Given the description of an element on the screen output the (x, y) to click on. 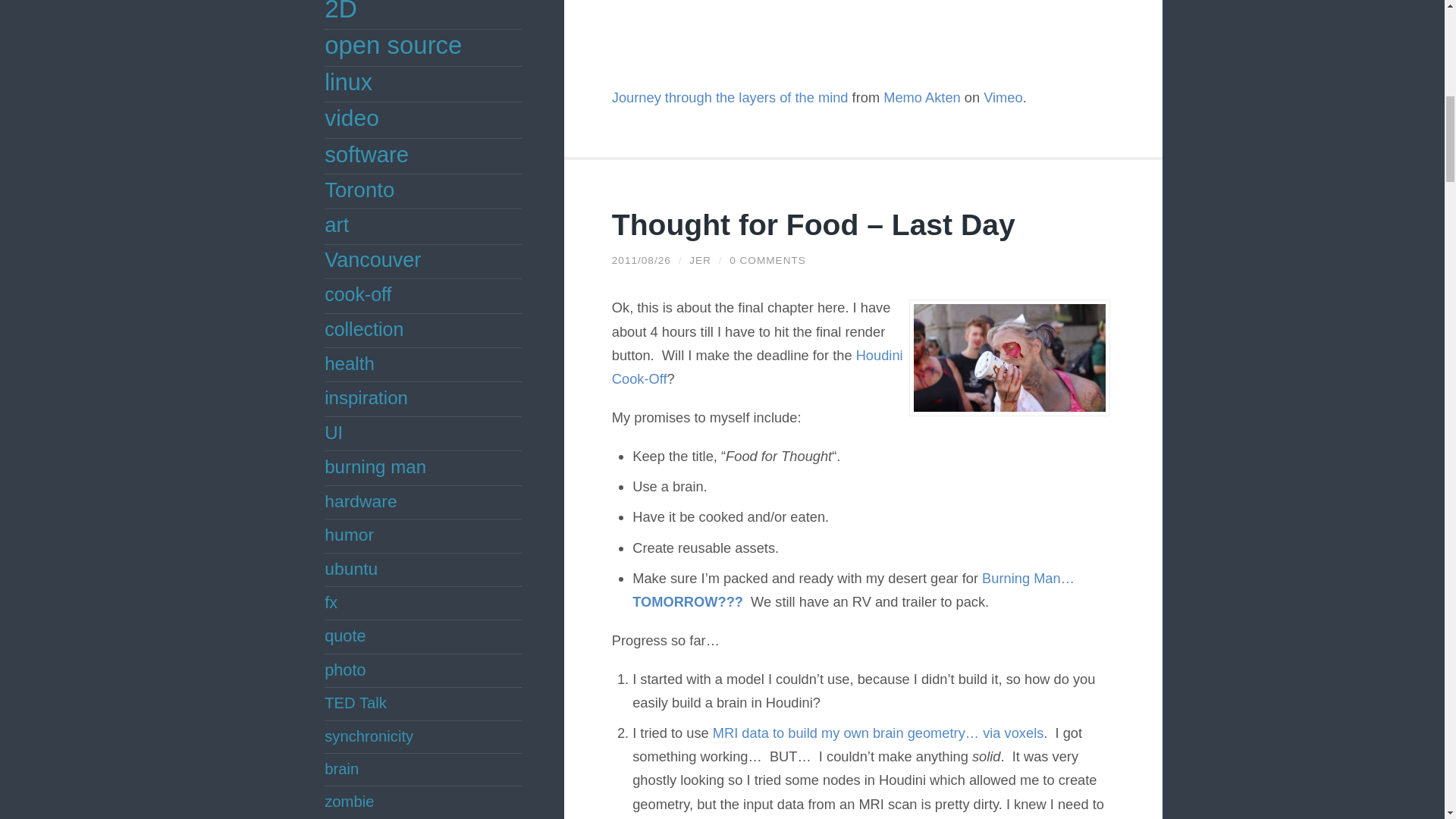
linux (348, 81)
quote (344, 635)
How to kill your render time. (878, 732)
synchronicity (368, 736)
hardware (360, 501)
TED Talk (355, 702)
collection (363, 328)
cook-off (357, 293)
Vancouver (372, 259)
2D (340, 11)
inspiration (365, 397)
open source (392, 44)
Posts by Jer (699, 260)
I don't feel like uploading from the playa. (854, 589)
photo (344, 669)
